Given the description of an element on the screen output the (x, y) to click on. 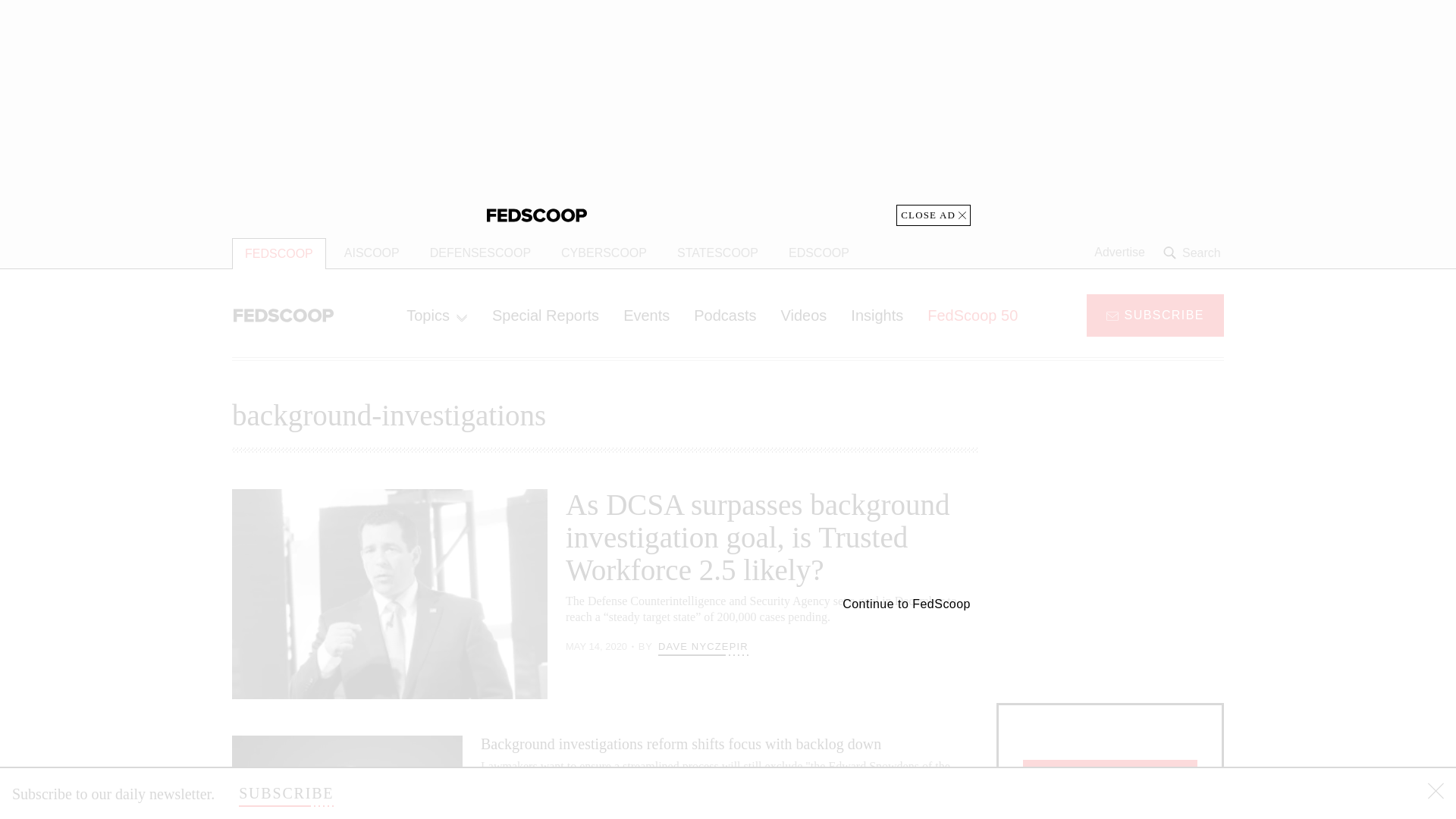
FedScoop 50 (972, 315)
CYBERSCOOP (603, 253)
Special Reports (545, 315)
STATESCOOP (717, 253)
Advertise (1119, 252)
Search (1193, 252)
Podcasts (724, 315)
Topics (437, 315)
